Given the description of an element on the screen output the (x, y) to click on. 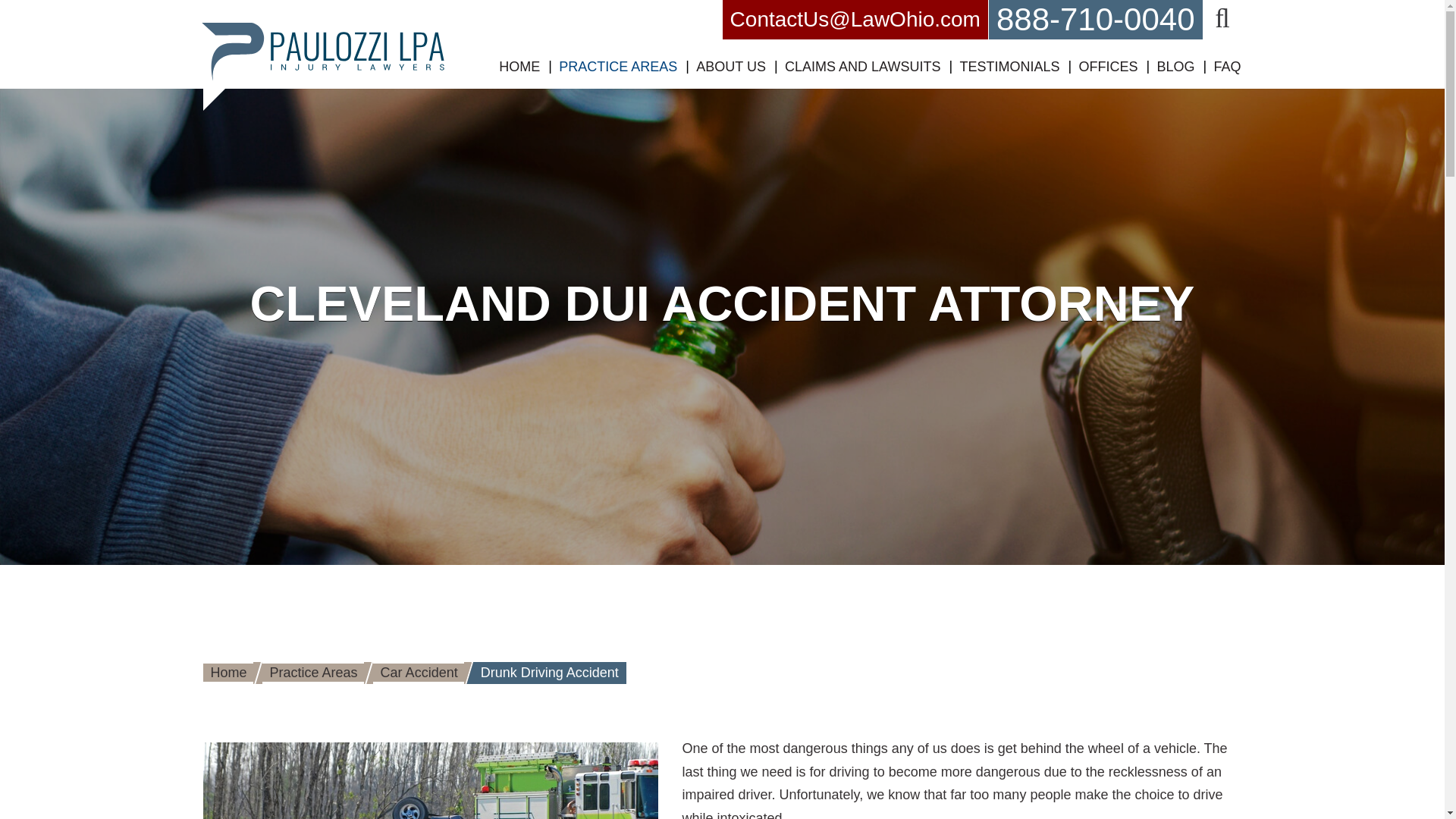
Practice Areas (617, 66)
888-710-0040 (1096, 19)
PRACTICE AREAS (617, 66)
HOME (518, 66)
Search Here (1221, 19)
Home (518, 66)
